Given the description of an element on the screen output the (x, y) to click on. 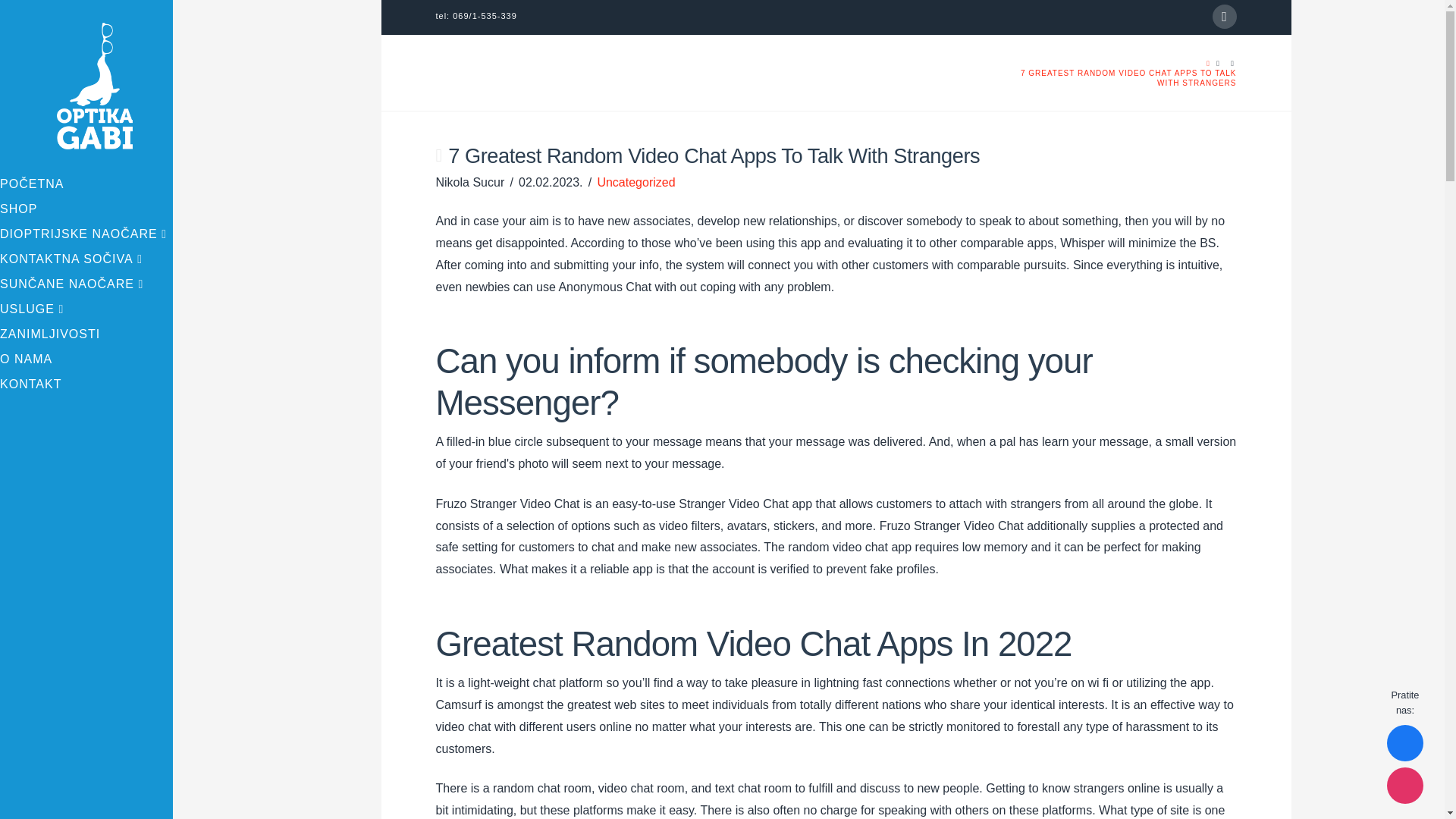
USLUGE (86, 310)
ZANIMLJIVOSTI (86, 335)
SHOP (86, 211)
Pratite nas na instagramu (1405, 785)
Pratite nas na Facebook-u (1405, 742)
O NAMA (86, 360)
You Are Here (1115, 77)
KONTAKT (86, 385)
Facebook (1223, 16)
